Given the description of an element on the screen output the (x, y) to click on. 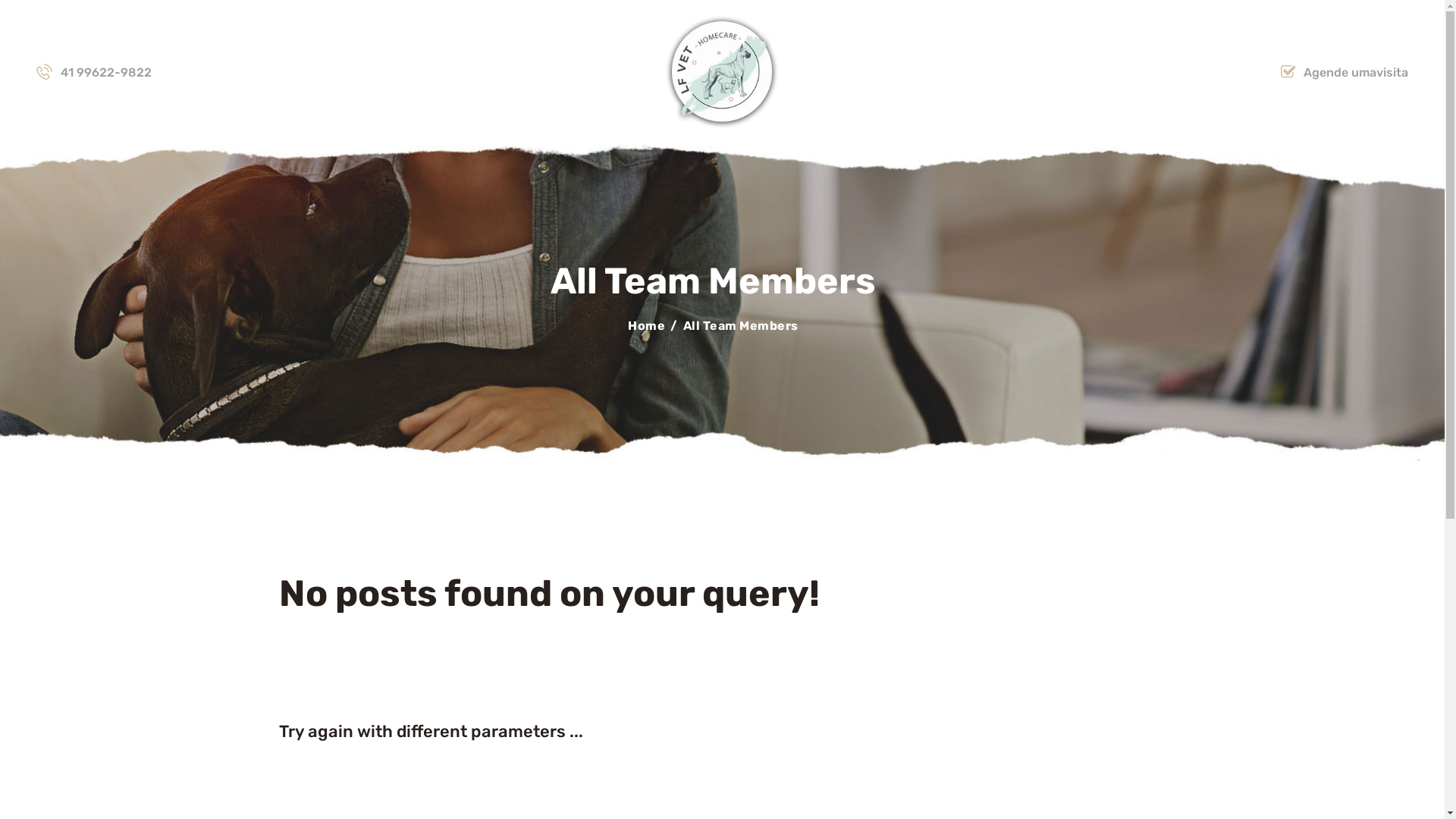
Home Element type: text (646, 325)
Agende umavisita Element type: text (1344, 71)
41 99622-9822 Element type: text (93, 71)
